Given the description of an element on the screen output the (x, y) to click on. 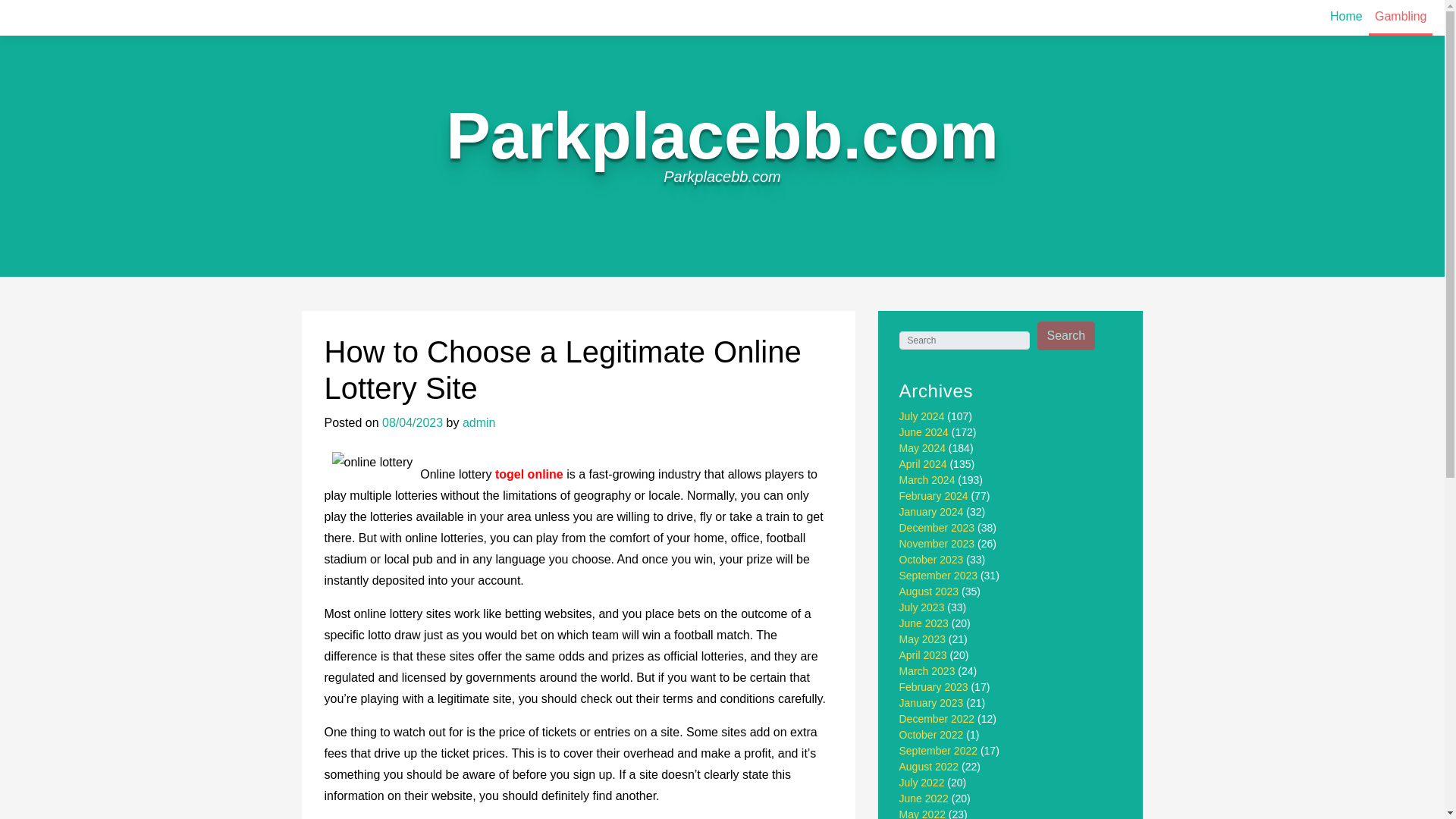
Gambling (1400, 18)
September 2023 (938, 575)
December 2023 (937, 527)
Home (1345, 16)
togel online (529, 473)
November 2023 (937, 543)
February 2023 (933, 686)
March 2024 (927, 480)
June 2023 (924, 623)
April 2023 (923, 654)
Home (1345, 16)
April 2024 (923, 463)
May 2023 (921, 639)
Search (1066, 335)
August 2023 (929, 591)
